Given the description of an element on the screen output the (x, y) to click on. 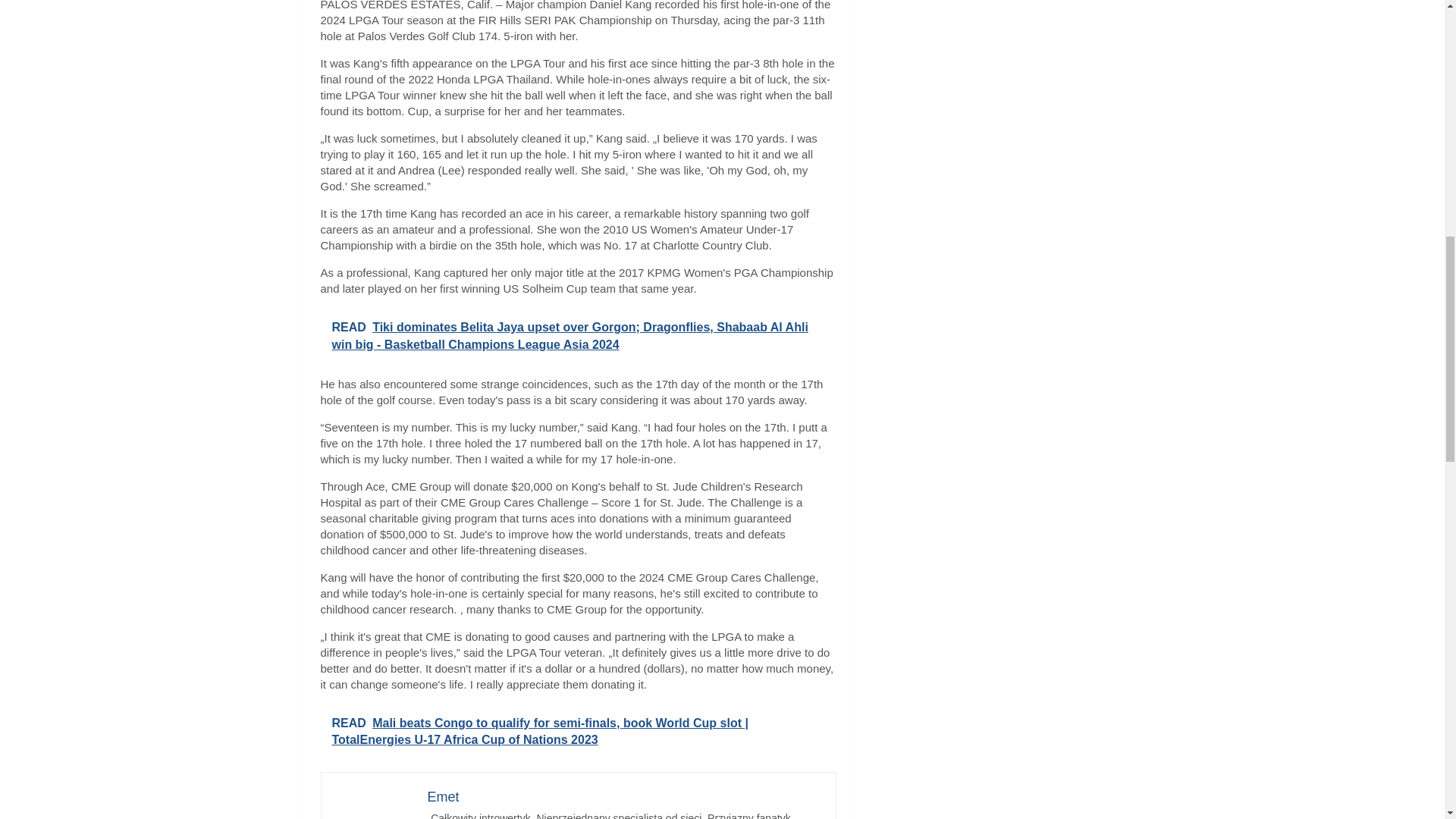
Emet (444, 796)
